Given the description of an element on the screen output the (x, y) to click on. 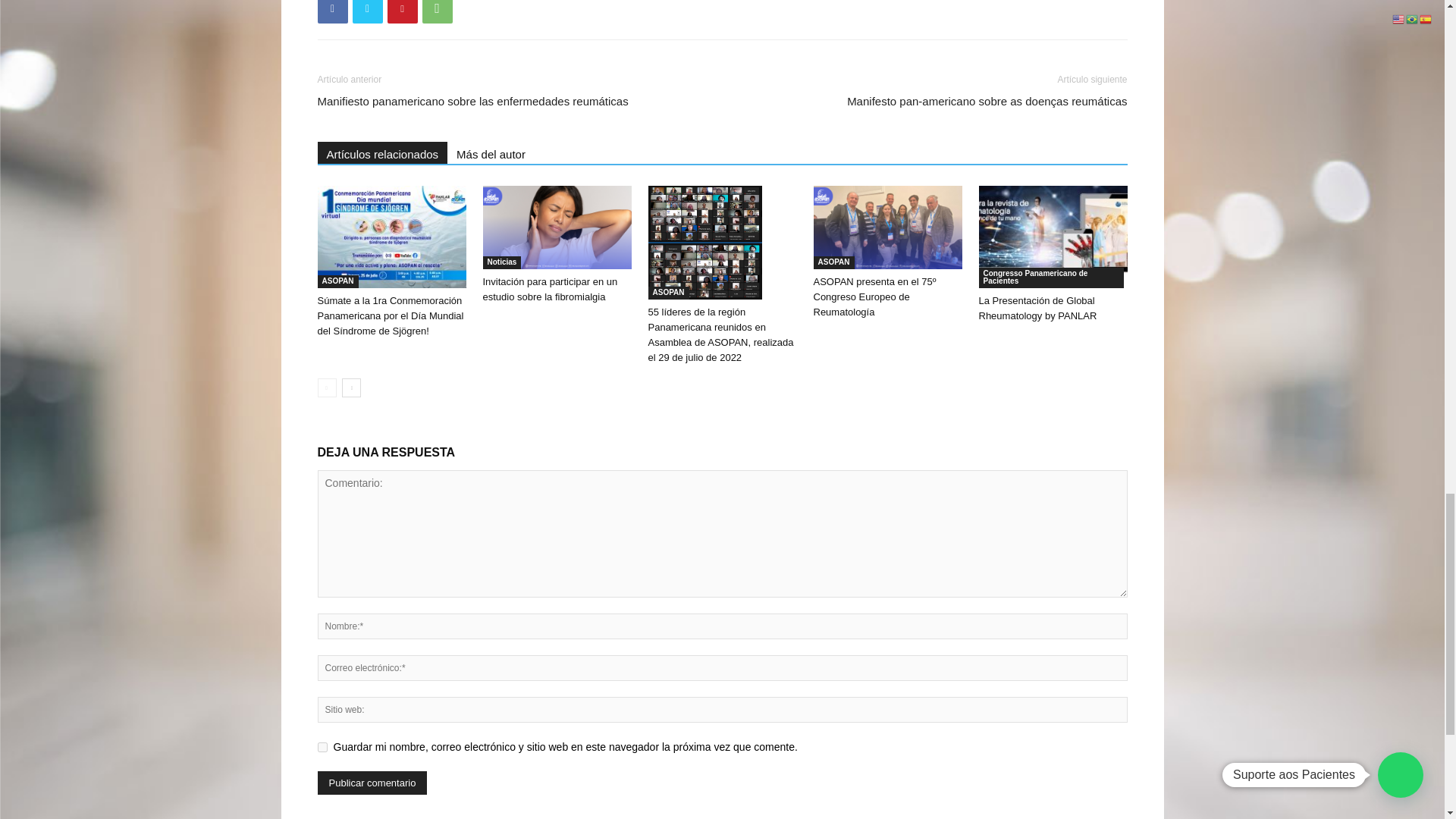
Publicar comentario (371, 782)
yes (321, 747)
